Given the description of an element on the screen output the (x, y) to click on. 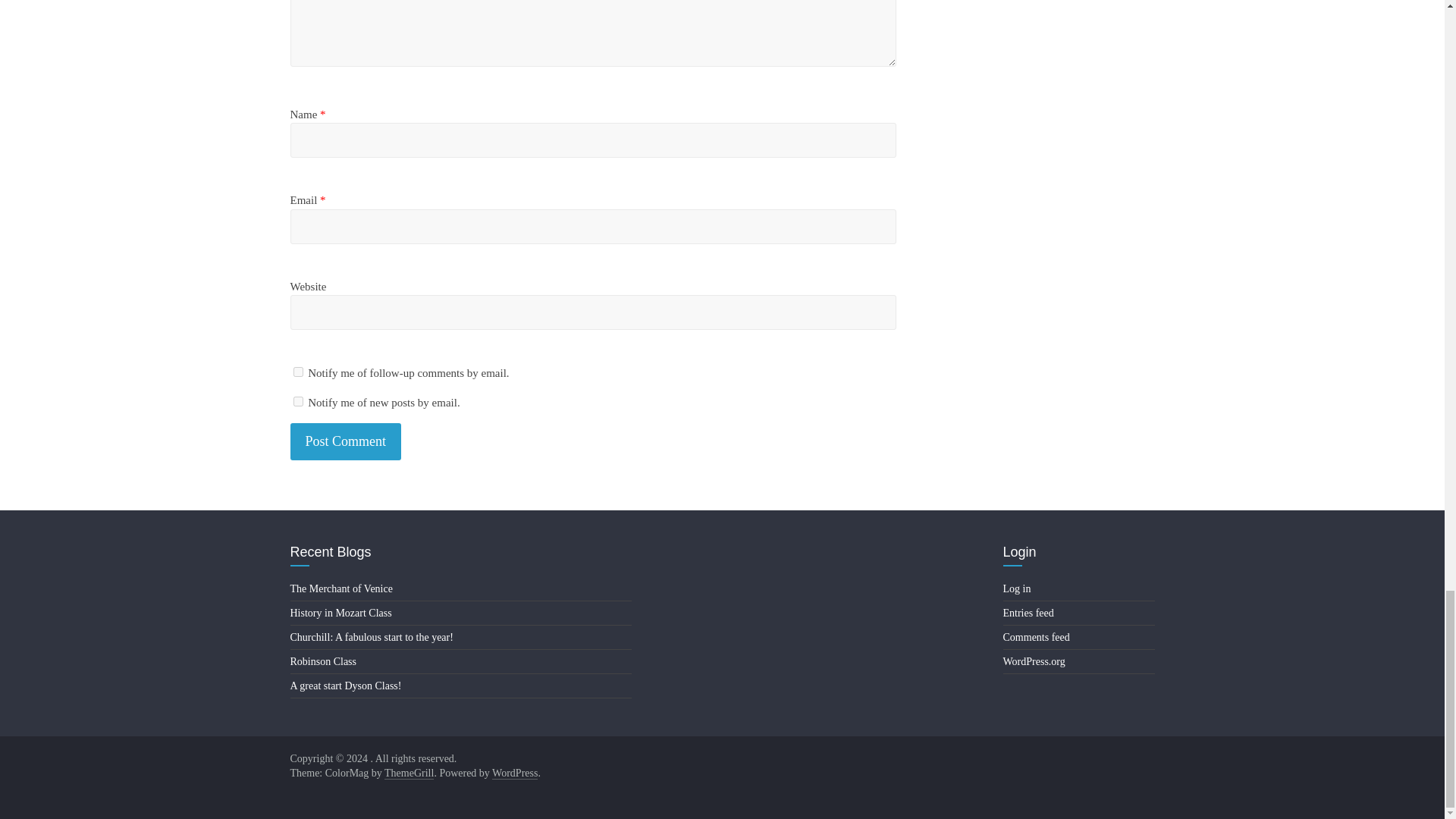
subscribe (297, 371)
The Merchant of Venice (340, 588)
subscribe (297, 401)
ThemeGrill (408, 773)
Post Comment (345, 441)
WordPress (514, 773)
History in Mozart Class (340, 613)
Churchill: A fabulous start to the year! (370, 636)
Post Comment (345, 441)
